Given the description of an element on the screen output the (x, y) to click on. 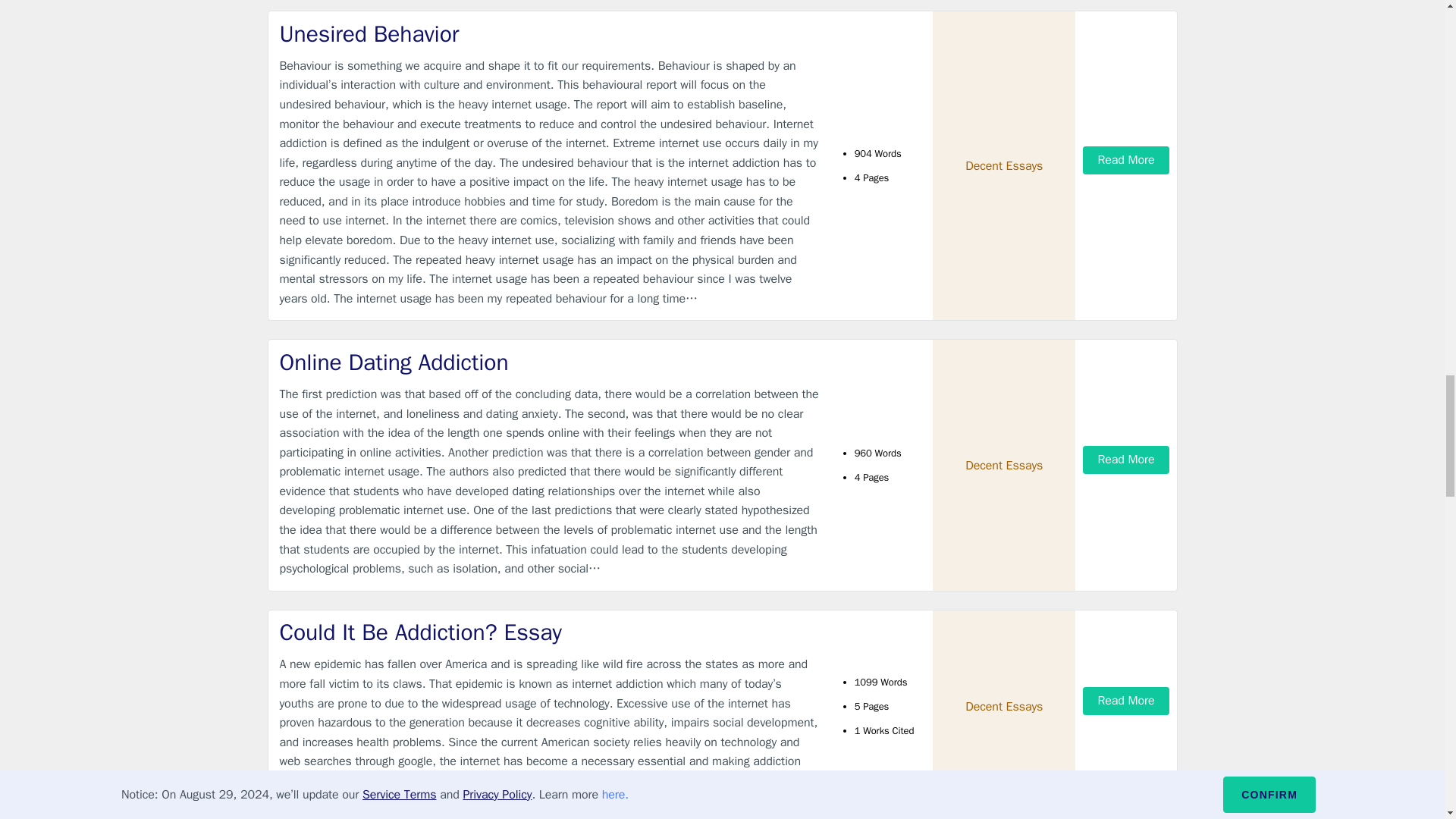
Online Dating Addiction (548, 362)
Read More (1126, 459)
Unesired Behavior (548, 33)
Read More (1126, 160)
